Given the description of an element on the screen output the (x, y) to click on. 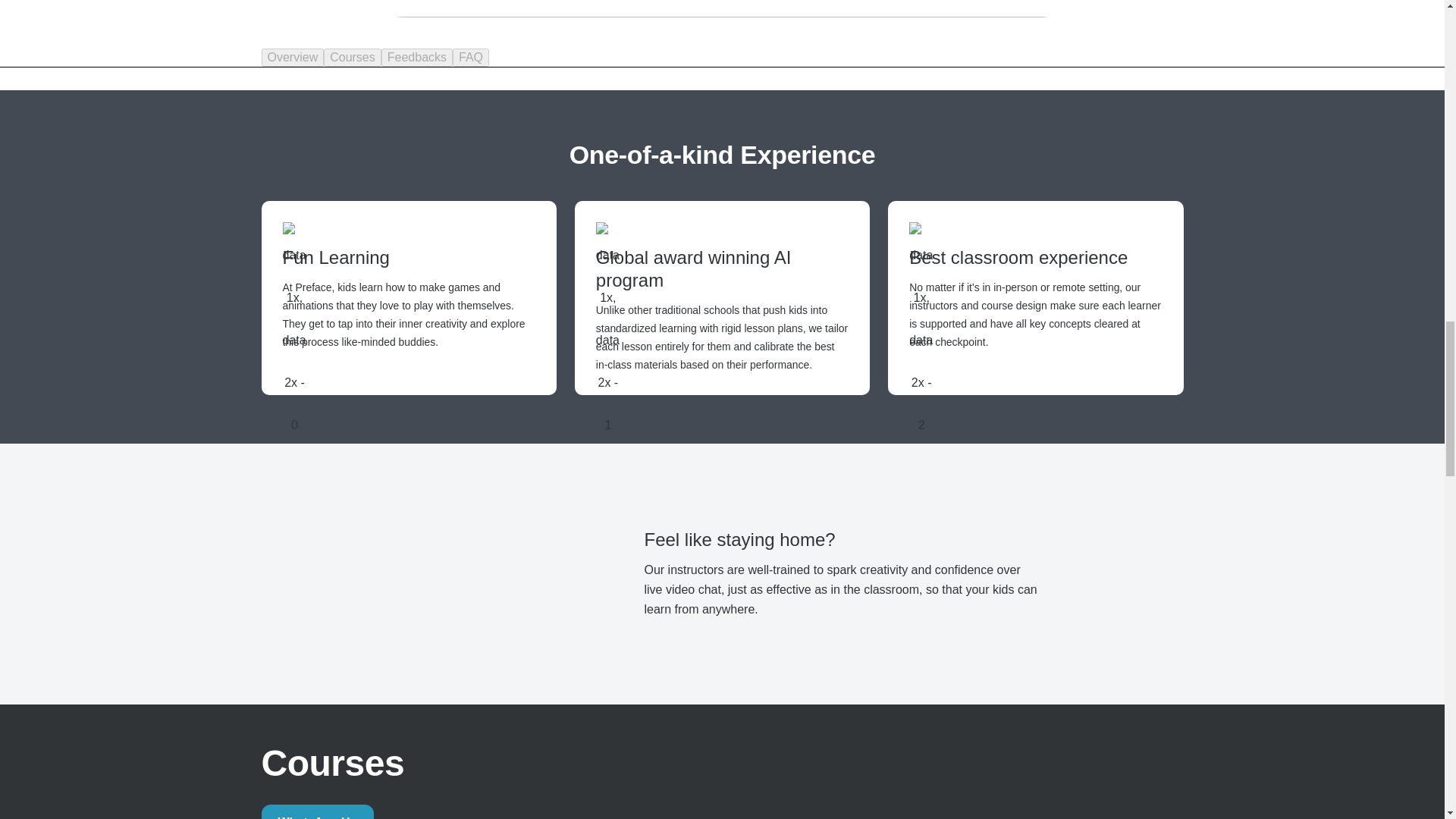
WhatsApp Us (316, 811)
